Given the description of an element on the screen output the (x, y) to click on. 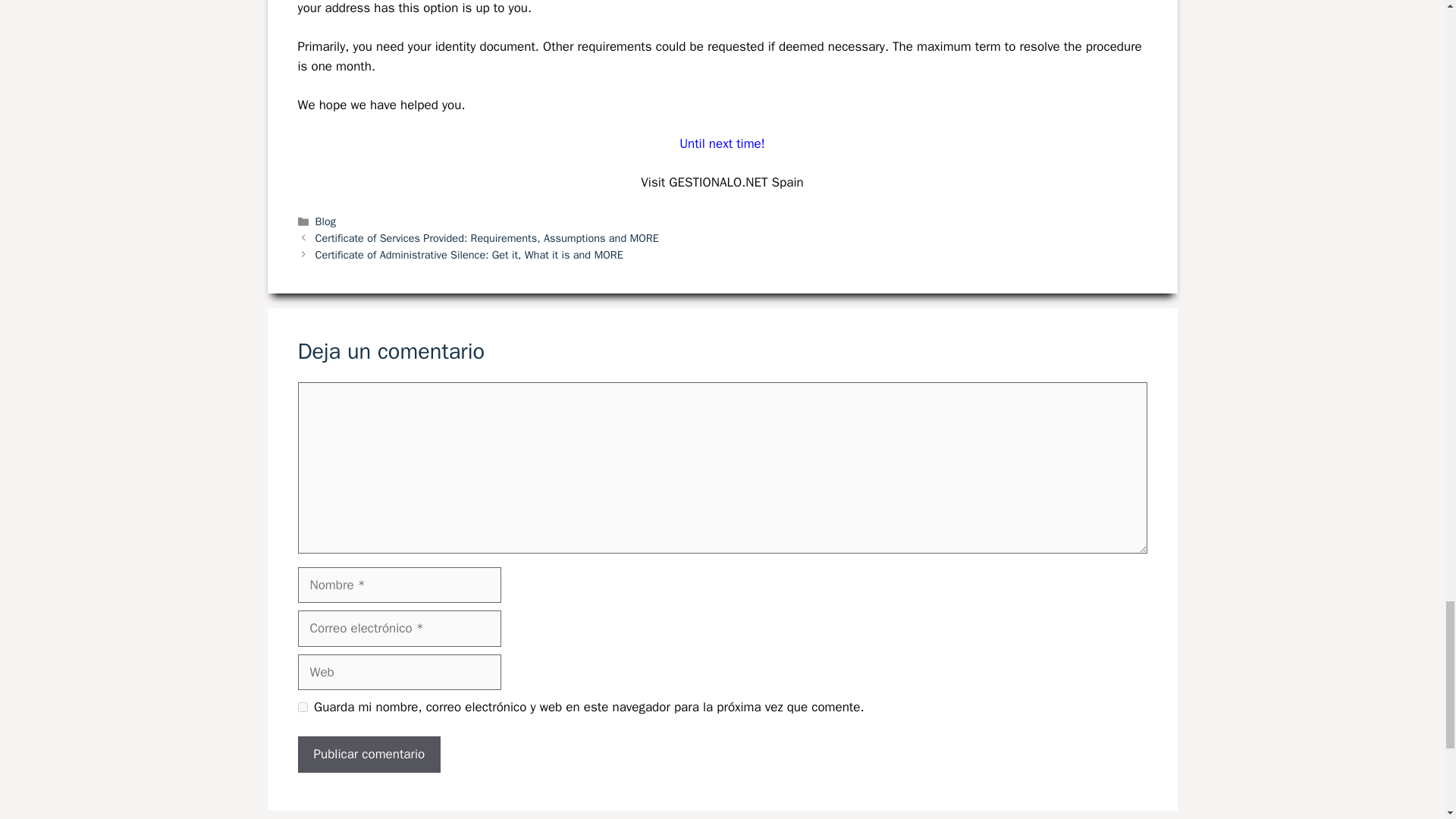
Publicar comentario (369, 754)
Blog (325, 221)
Publicar comentario (369, 754)
yes (302, 706)
